Given the description of an element on the screen output the (x, y) to click on. 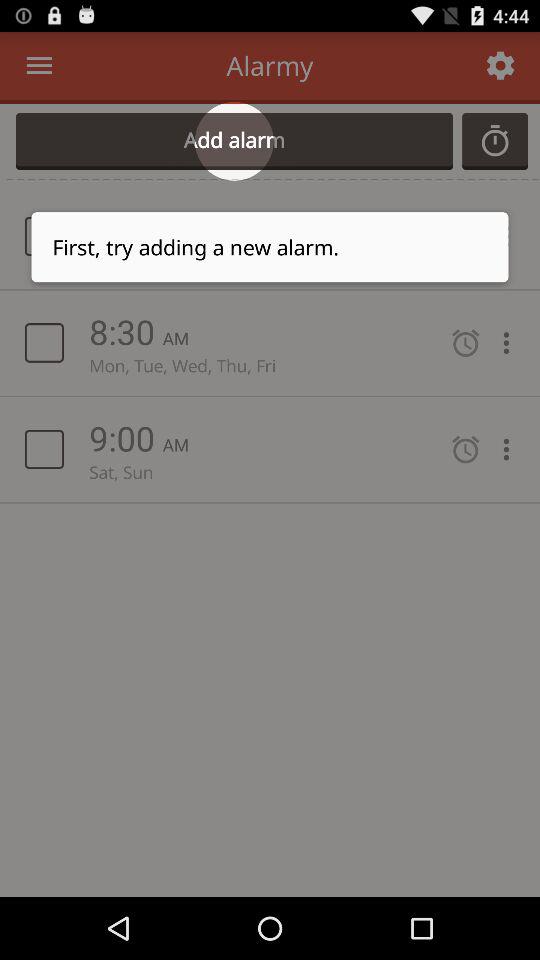
flip to add alarm button (234, 141)
